Given the description of an element on the screen output the (x, y) to click on. 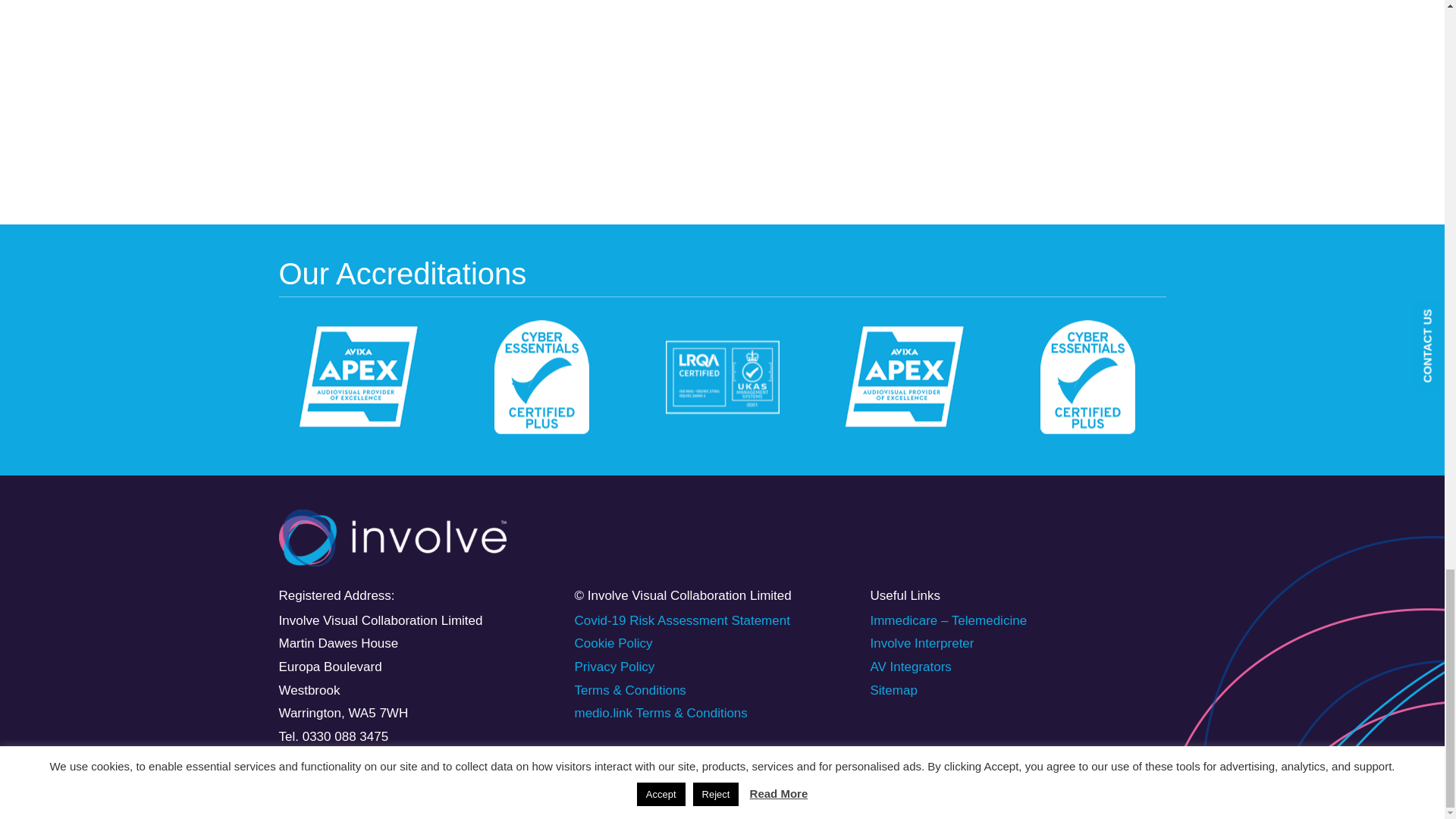
Involve Engineering (608, 82)
Involve (392, 537)
